Given the description of an element on the screen output the (x, y) to click on. 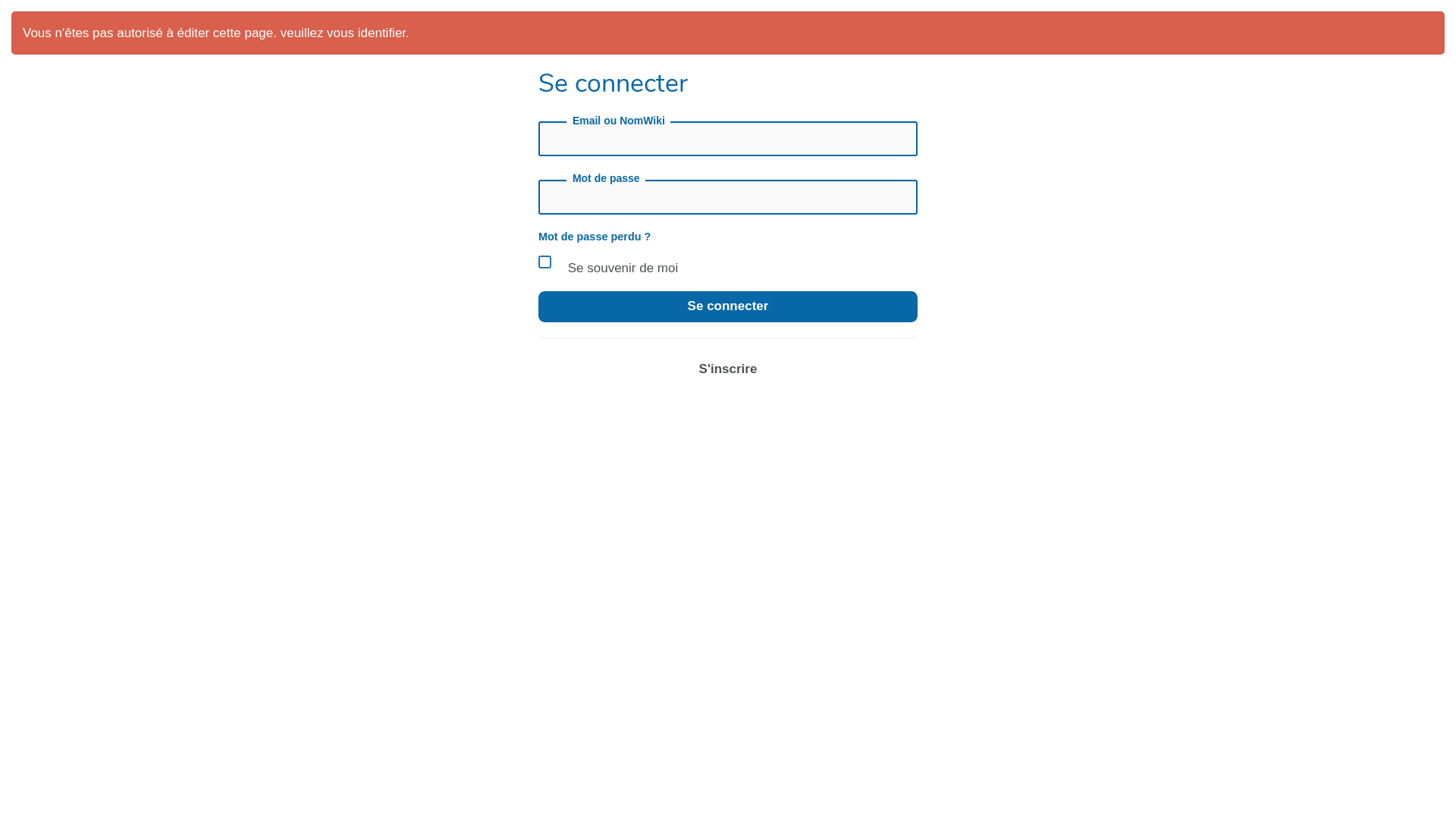
Mot de passe perdu ? Element type: text (594, 236)
S'inscrire Element type: text (727, 368)
Se connecter Element type: text (727, 306)
